Given the description of an element on the screen output the (x, y) to click on. 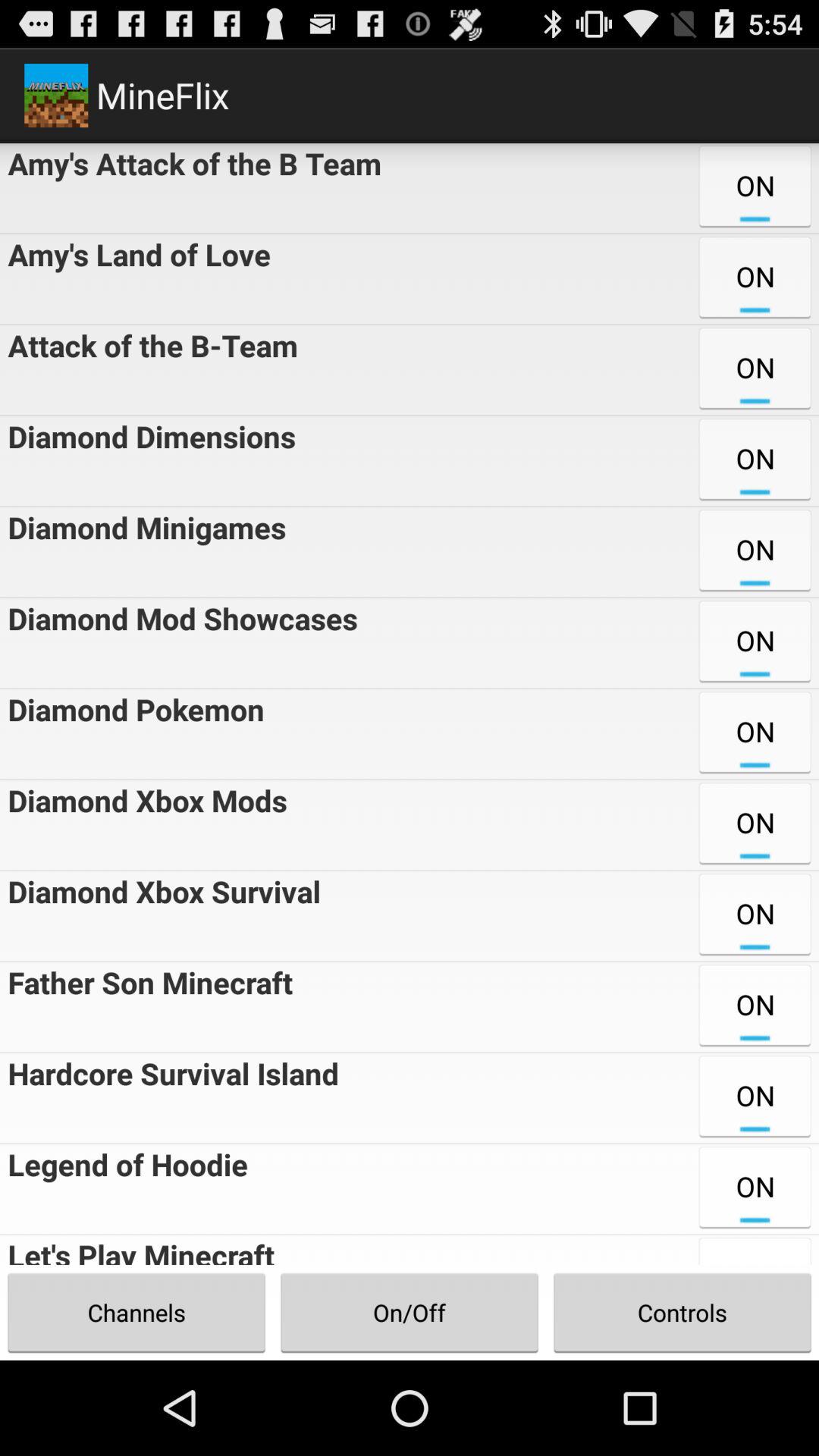
swipe until father son minecraft icon (146, 1007)
